Given the description of an element on the screen output the (x, y) to click on. 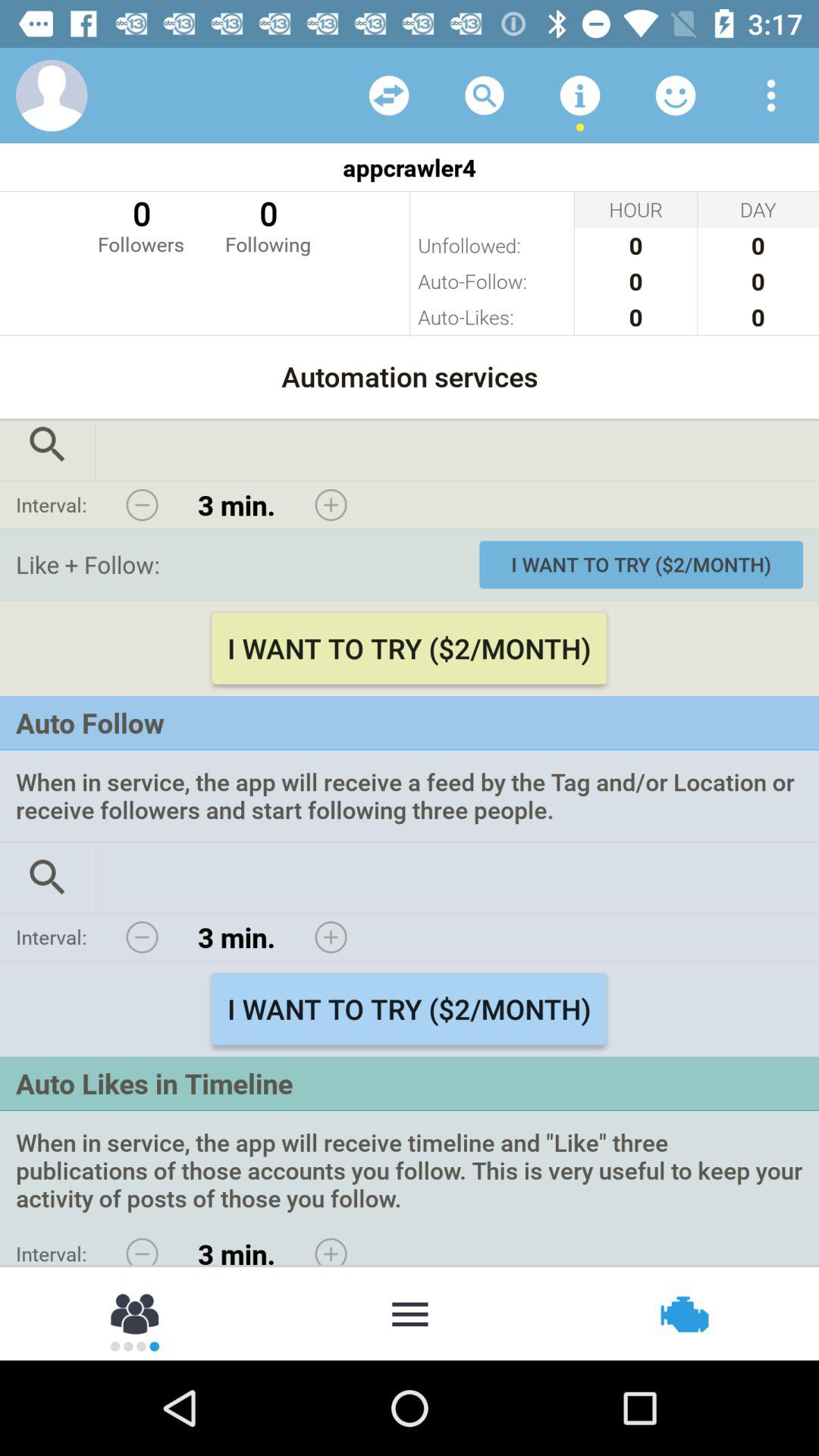
increase interval (330, 504)
